Given the description of an element on the screen output the (x, y) to click on. 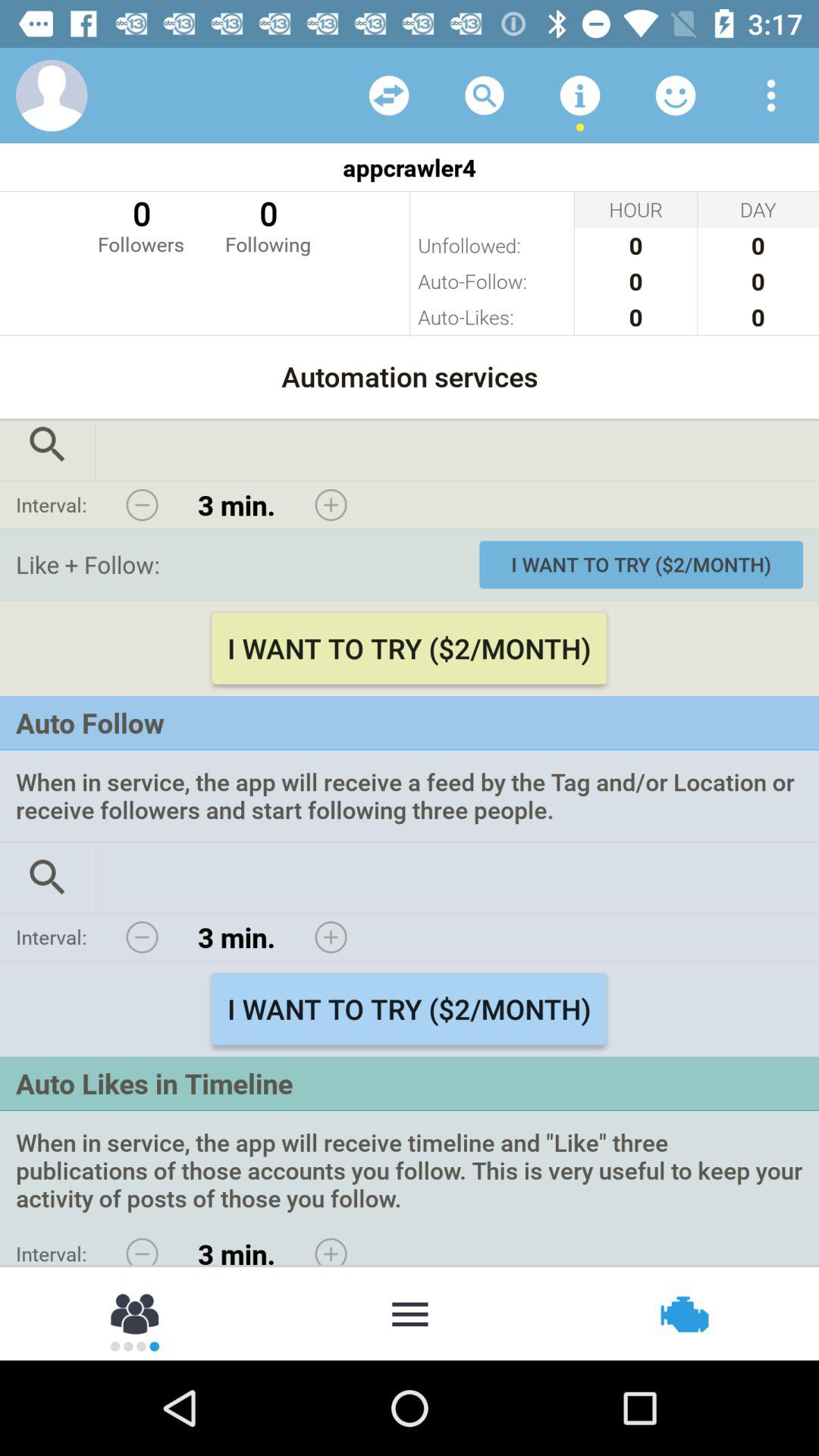
increase interval (330, 504)
